Given the description of an element on the screen output the (x, y) to click on. 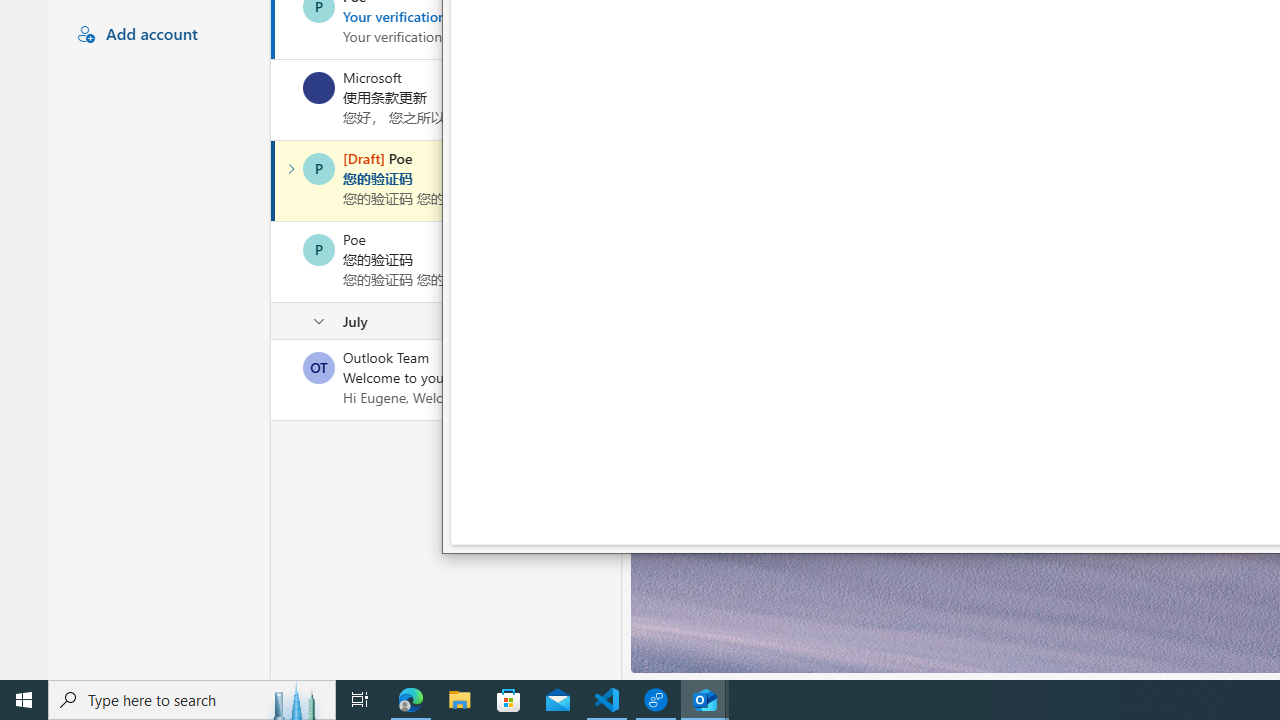
Mark as unread (273, 379)
Start (24, 699)
Microsoft (319, 87)
Poe (319, 249)
Outlook (new) - 2 running windows (704, 699)
Mark as read (273, 181)
Task View (359, 699)
Type here to search (191, 699)
Outlook Team (319, 367)
Select a conversation (319, 367)
Edge Feedback - 1 running window (656, 699)
Microsoft Edge - 1 running window (411, 699)
Expand conversation (291, 168)
Microsoft Store (509, 699)
